Given the description of an element on the screen output the (x, y) to click on. 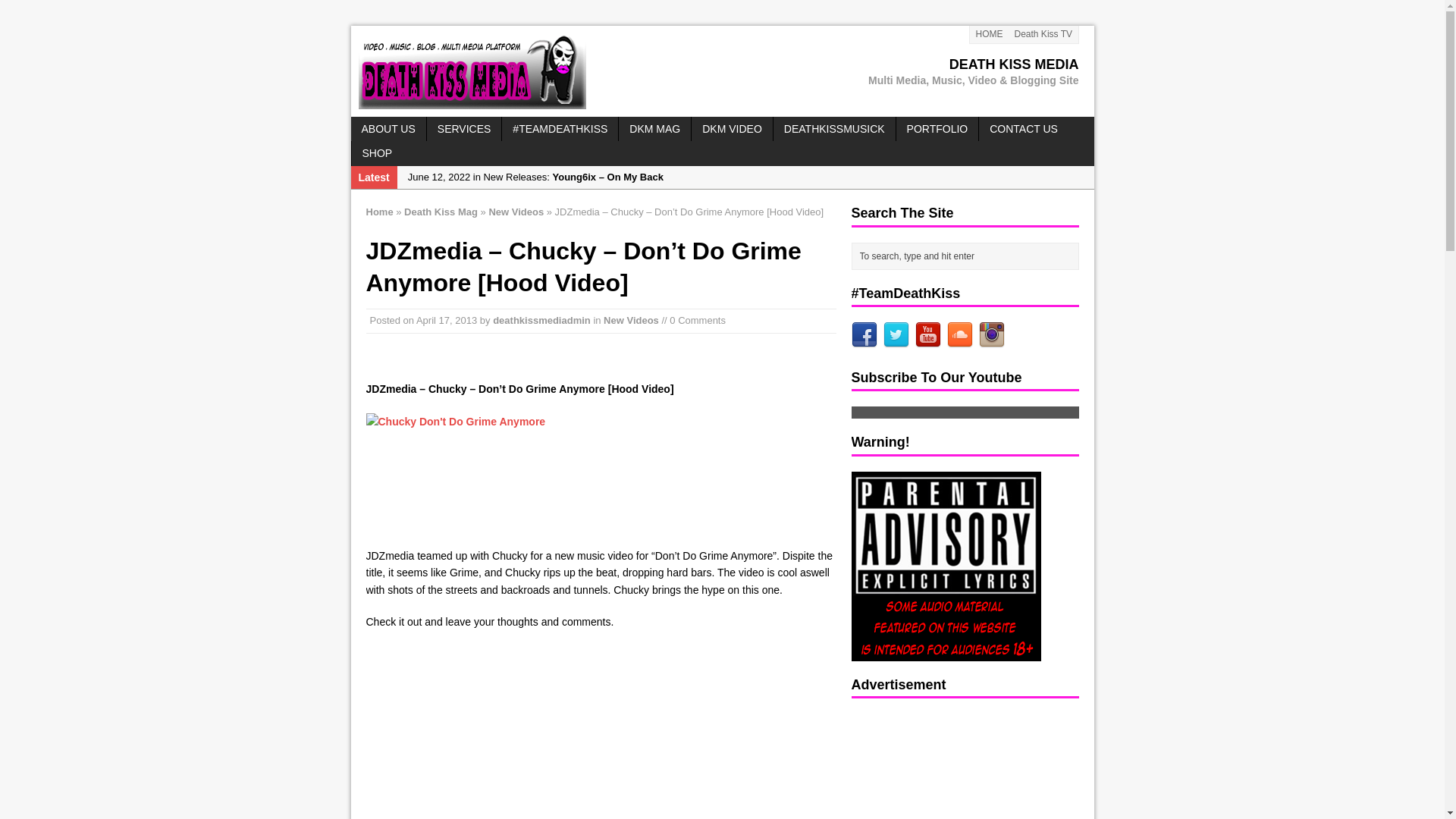
Death Kiss Media (721, 71)
To search, type and hit enter (968, 256)
Advertisement (945, 766)
